Given the description of an element on the screen output the (x, y) to click on. 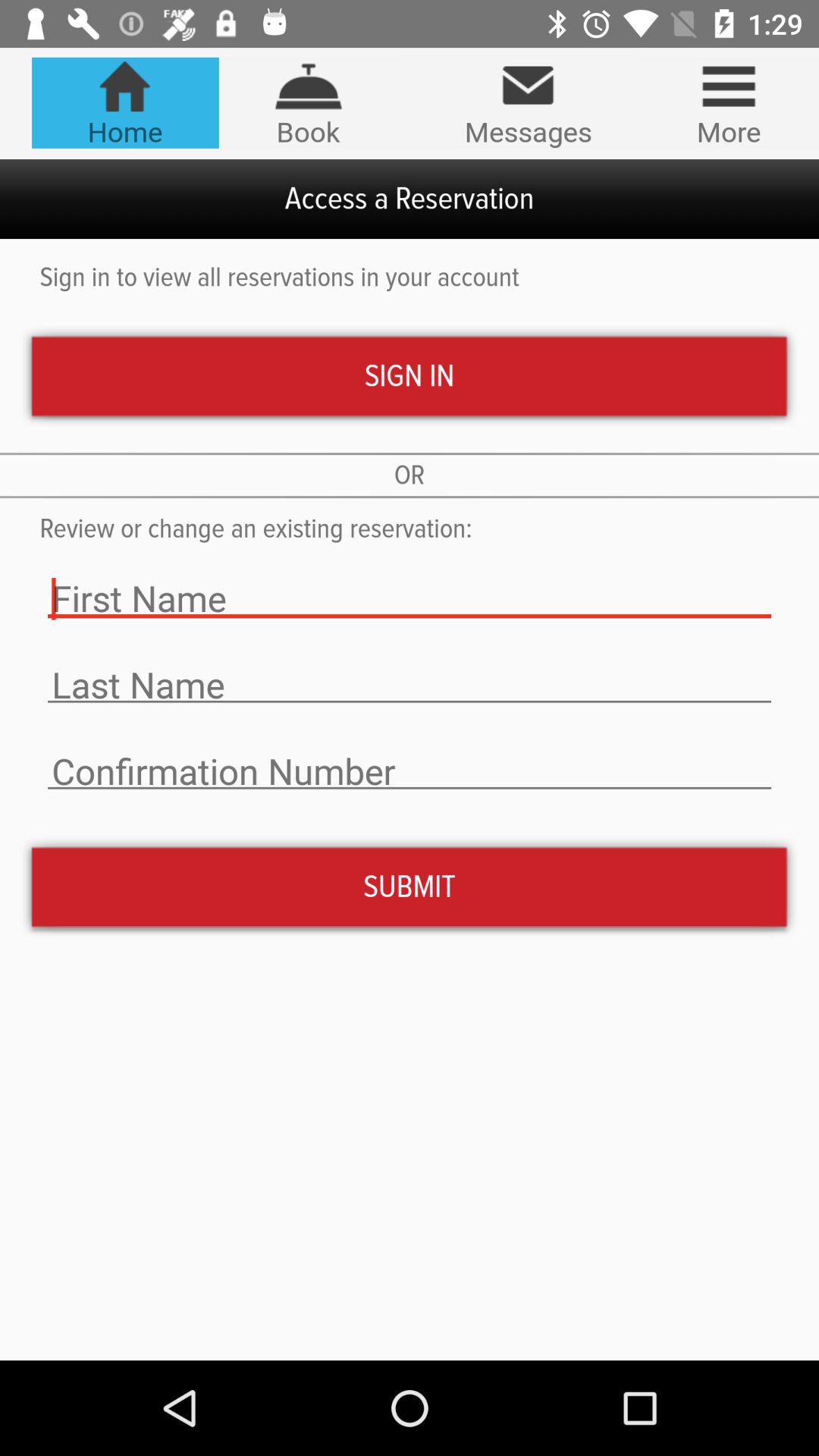
choose the item to the right of the messages icon (728, 102)
